Given the description of an element on the screen output the (x, y) to click on. 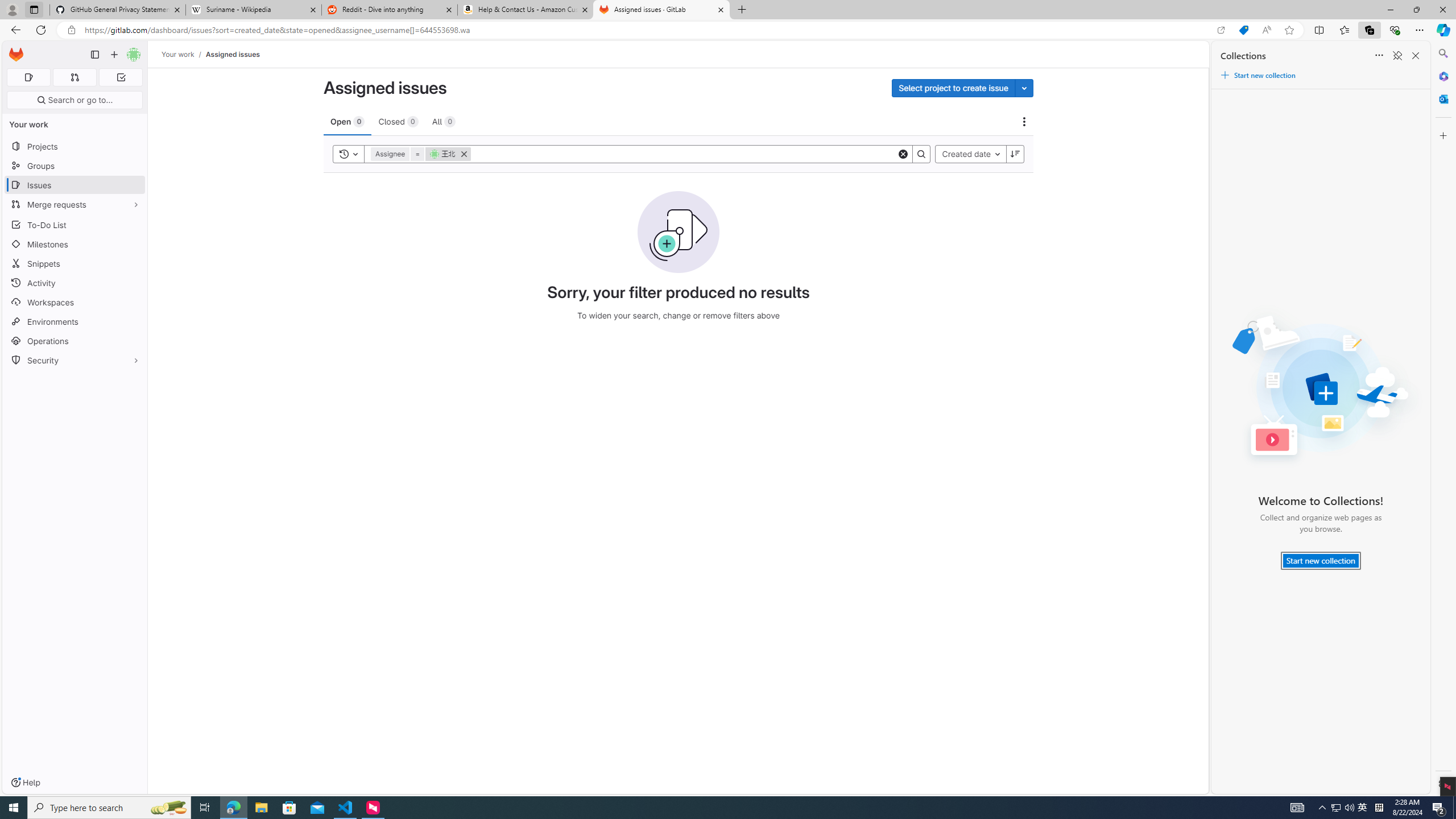
Create new... (113, 54)
Merge requests 0 (74, 76)
Clear (903, 153)
Projects (74, 145)
Assigned issues (232, 53)
Your work (178, 53)
Assigned issues 0 (28, 76)
Select project to create issue (952, 87)
